Given the description of an element on the screen output the (x, y) to click on. 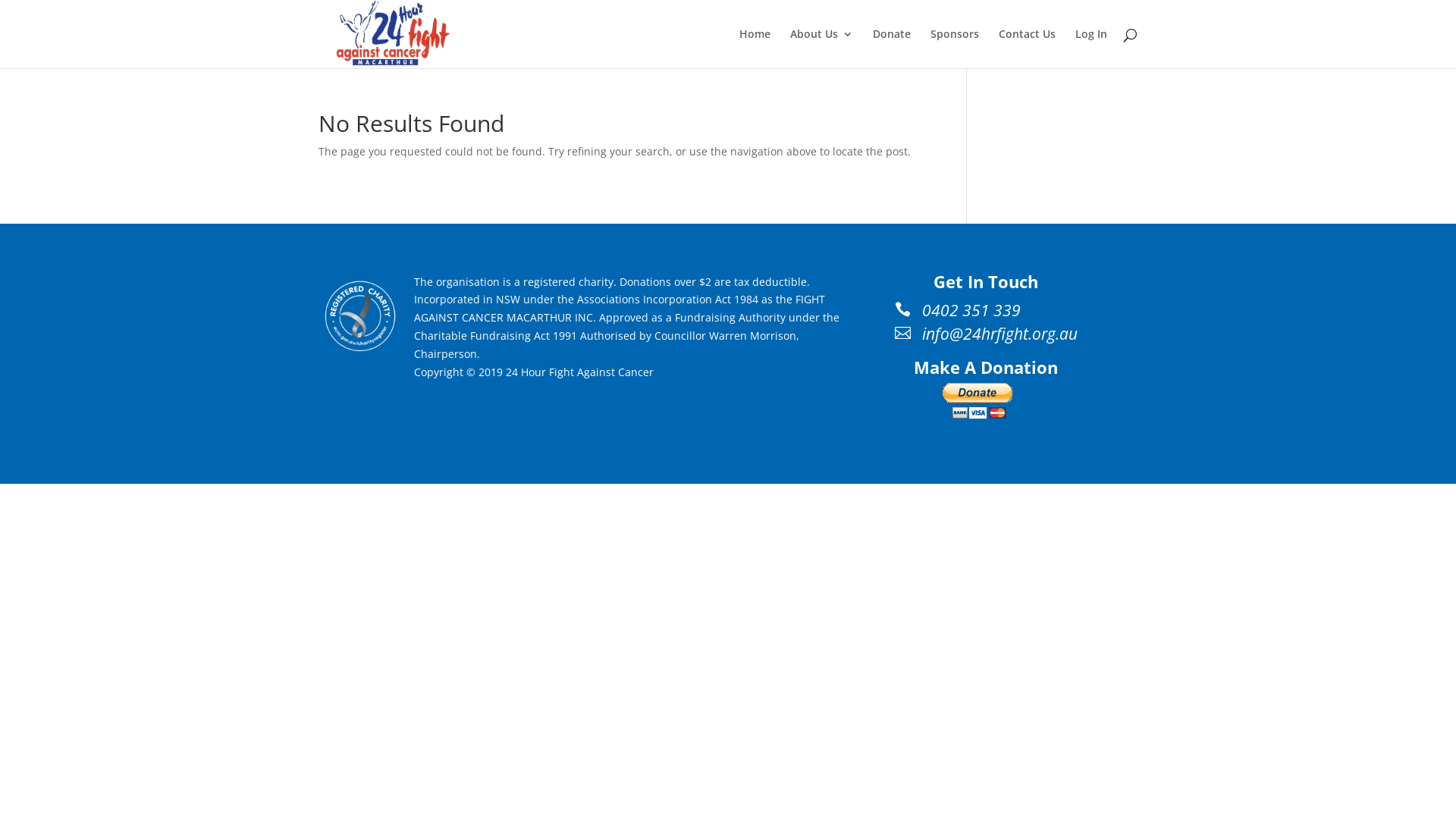
info@24hrfight.org.au Element type: text (999, 333)
Home Element type: text (754, 48)
Sponsors Element type: text (954, 48)
PayPal - The safer, easier way to pay online! Element type: hover (977, 400)
0402 351 339 Element type: text (971, 309)
Contact Us Element type: text (1026, 48)
Log In Element type: text (1091, 48)
About Us Element type: text (821, 48)
Donate Element type: text (891, 48)
